Given the description of an element on the screen output the (x, y) to click on. 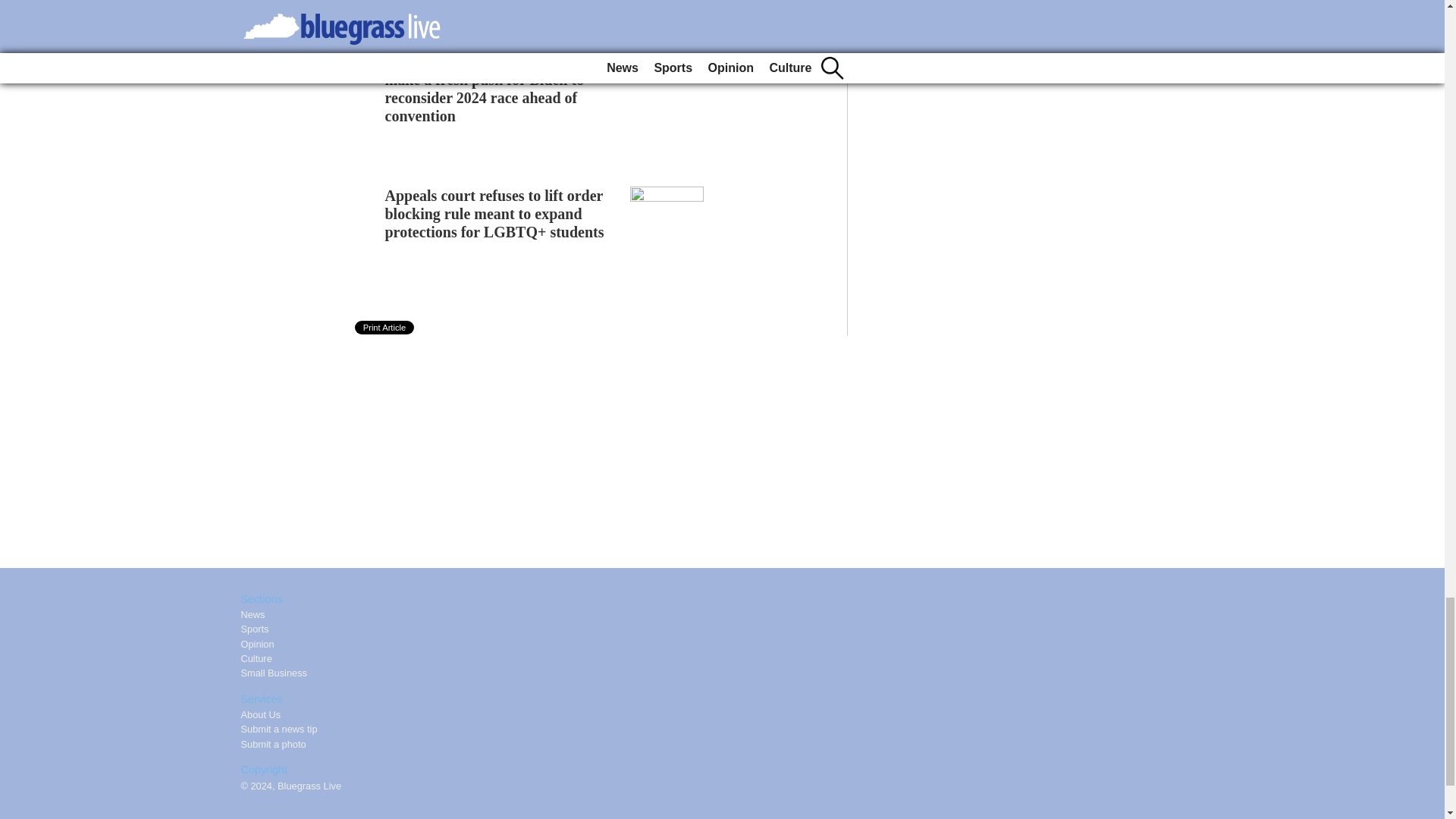
Sports (255, 628)
About Us (261, 714)
Submit a news tip (279, 728)
Opinion (258, 644)
News (252, 614)
Submit a photo (273, 744)
Print Article (384, 327)
Small Business (274, 672)
Culture (256, 658)
